Given the description of an element on the screen output the (x, y) to click on. 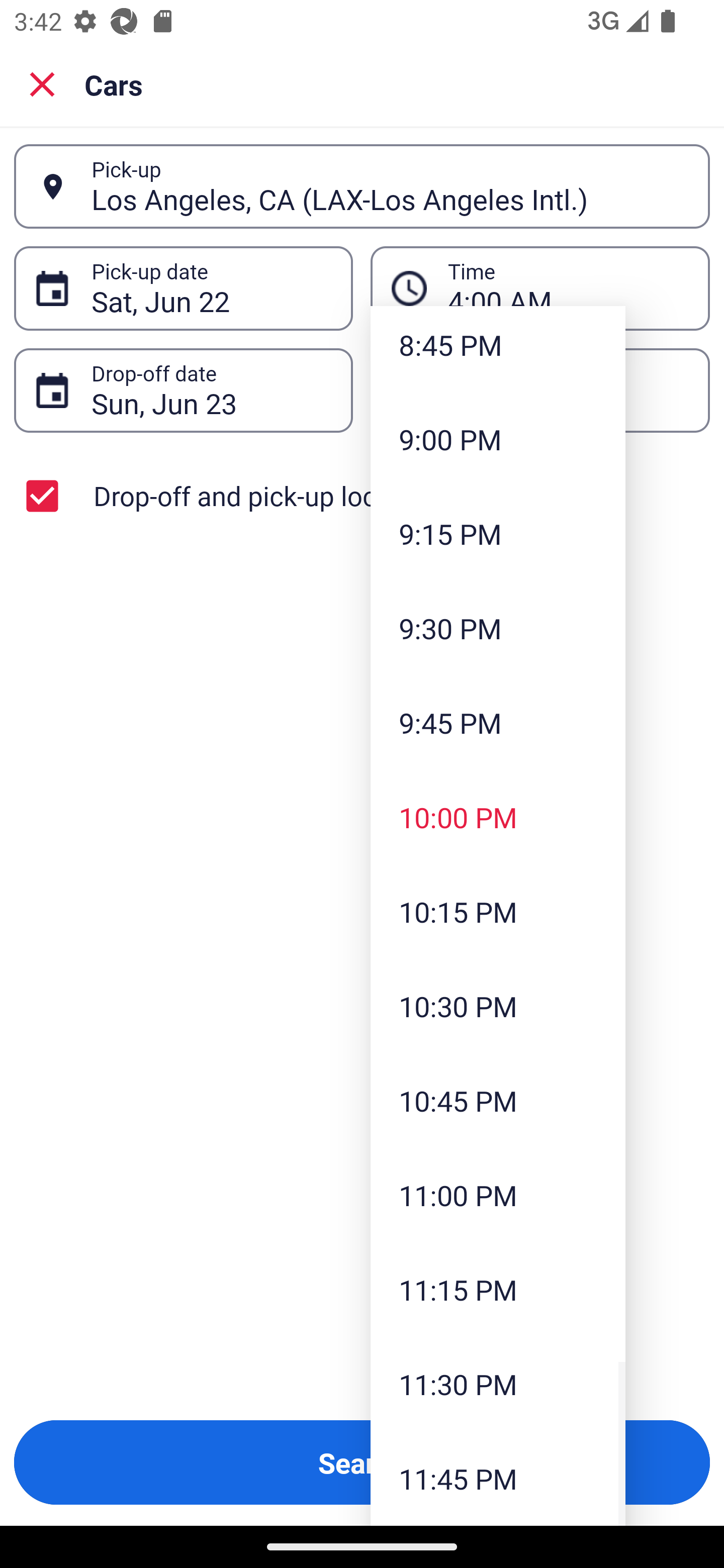
8:45 PM (497, 348)
9:00 PM (497, 439)
9:15 PM (497, 533)
9:30 PM (497, 628)
9:45 PM (497, 722)
10:00 PM (497, 816)
10:15 PM (497, 911)
10:30 PM (497, 1006)
10:45 PM (497, 1100)
11:00 PM (497, 1194)
11:15 PM (497, 1289)
11:30 PM (497, 1384)
11:45 PM (497, 1478)
